Given the description of an element on the screen output the (x, y) to click on. 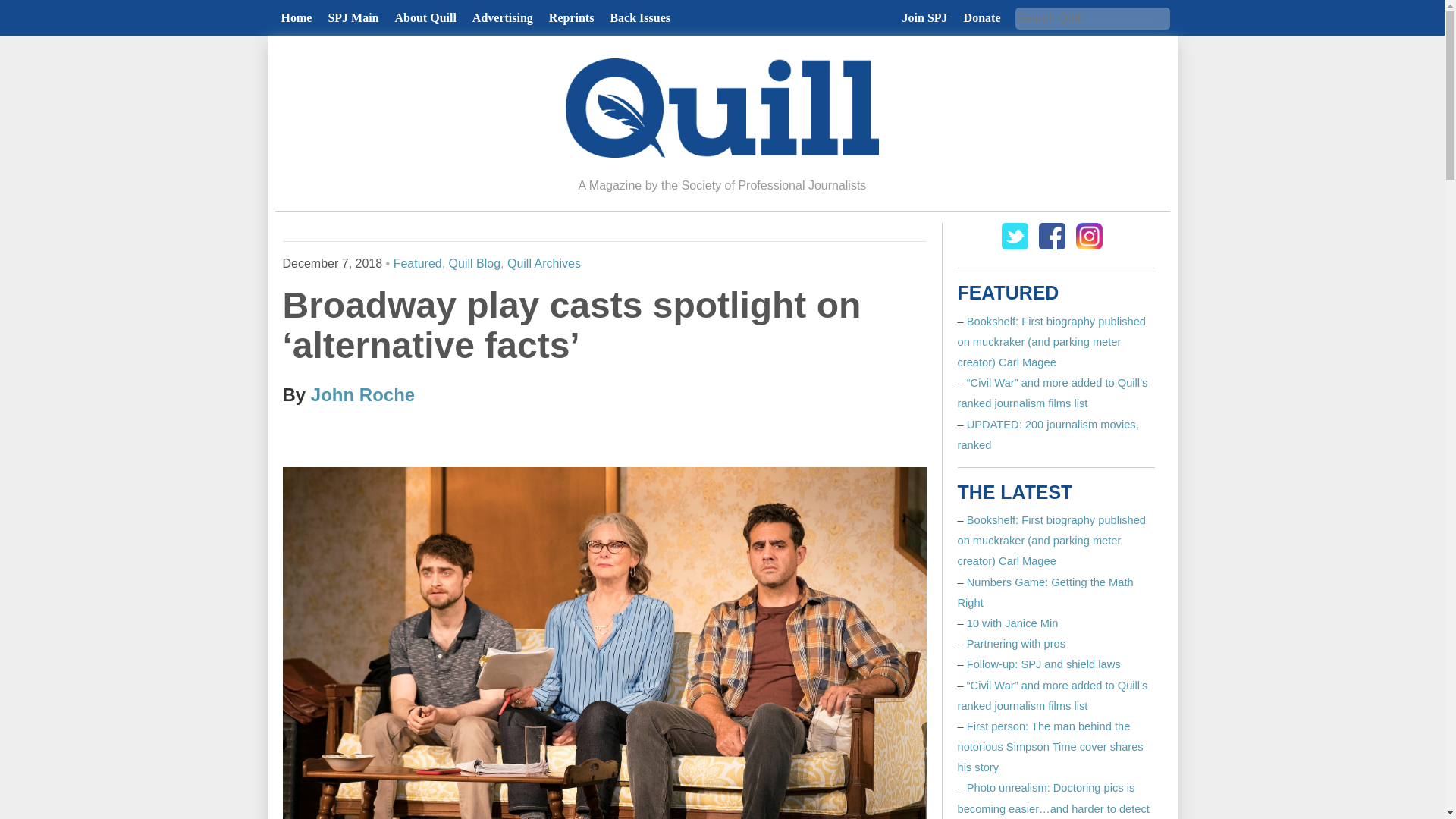
2018-12-07T20:56:38-0500 (331, 263)
Featured (417, 263)
Quill Blog (474, 263)
Quill Archives (543, 263)
John Roche (362, 394)
Partnering with pros (1015, 644)
Donate (982, 17)
Search (25, 9)
Follow-up: SPJ and shield laws (1043, 664)
10 with Janice Min (1012, 623)
